Given the description of an element on the screen output the (x, y) to click on. 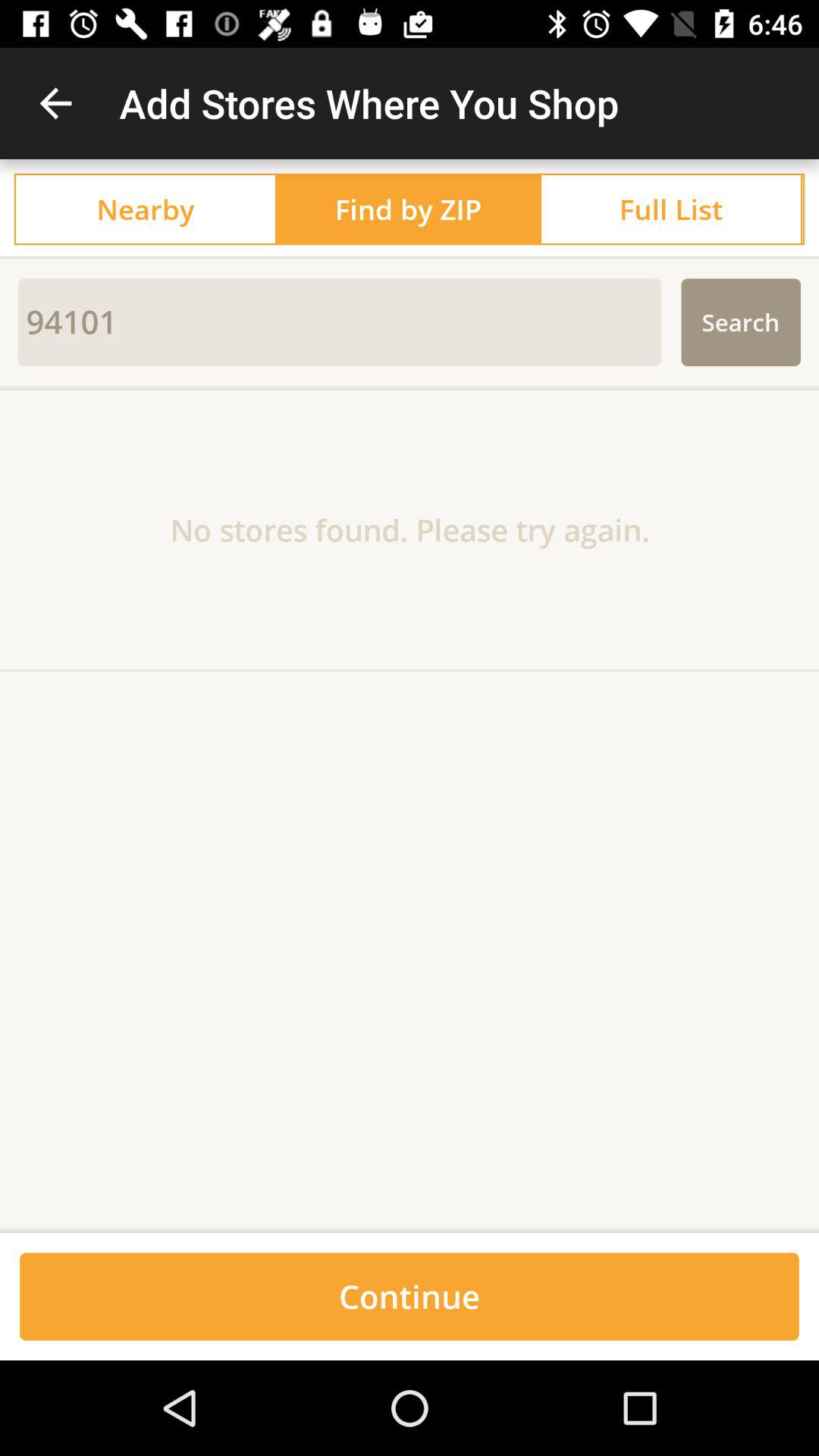
choose icon to the left of the search item (339, 322)
